Given the description of an element on the screen output the (x, y) to click on. 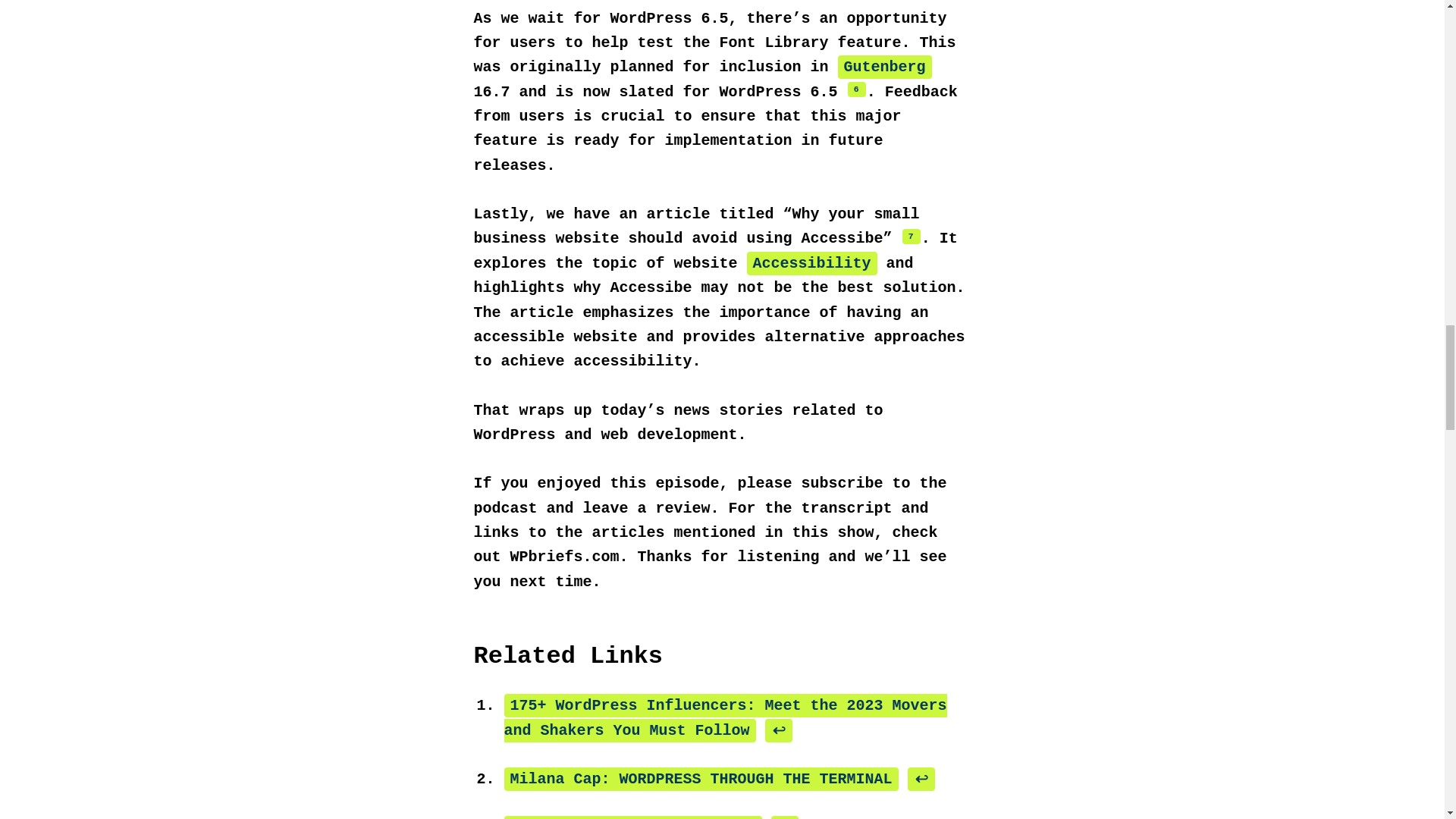
Gutenberg (884, 66)
Milana Cap: WORDPRESS THROUGH THE TERMINAL (700, 779)
6 (856, 89)
Accessibility (811, 263)
7 (911, 236)
Your Code Can Be Poetry Too (632, 817)
